Given the description of an element on the screen output the (x, y) to click on. 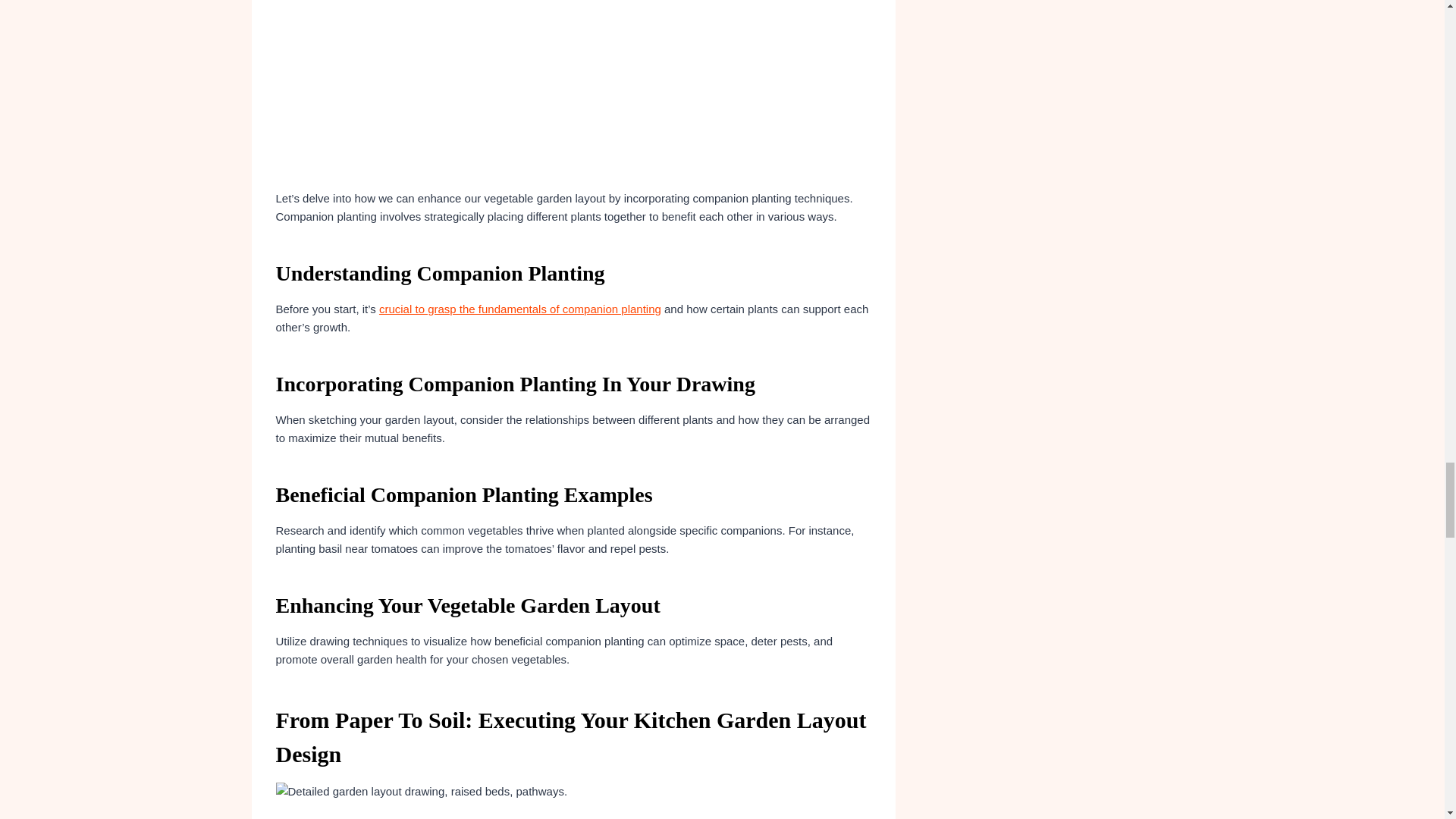
crucial to grasp the fundamentals of companion planting (519, 308)
